Given the description of an element on the screen output the (x, y) to click on. 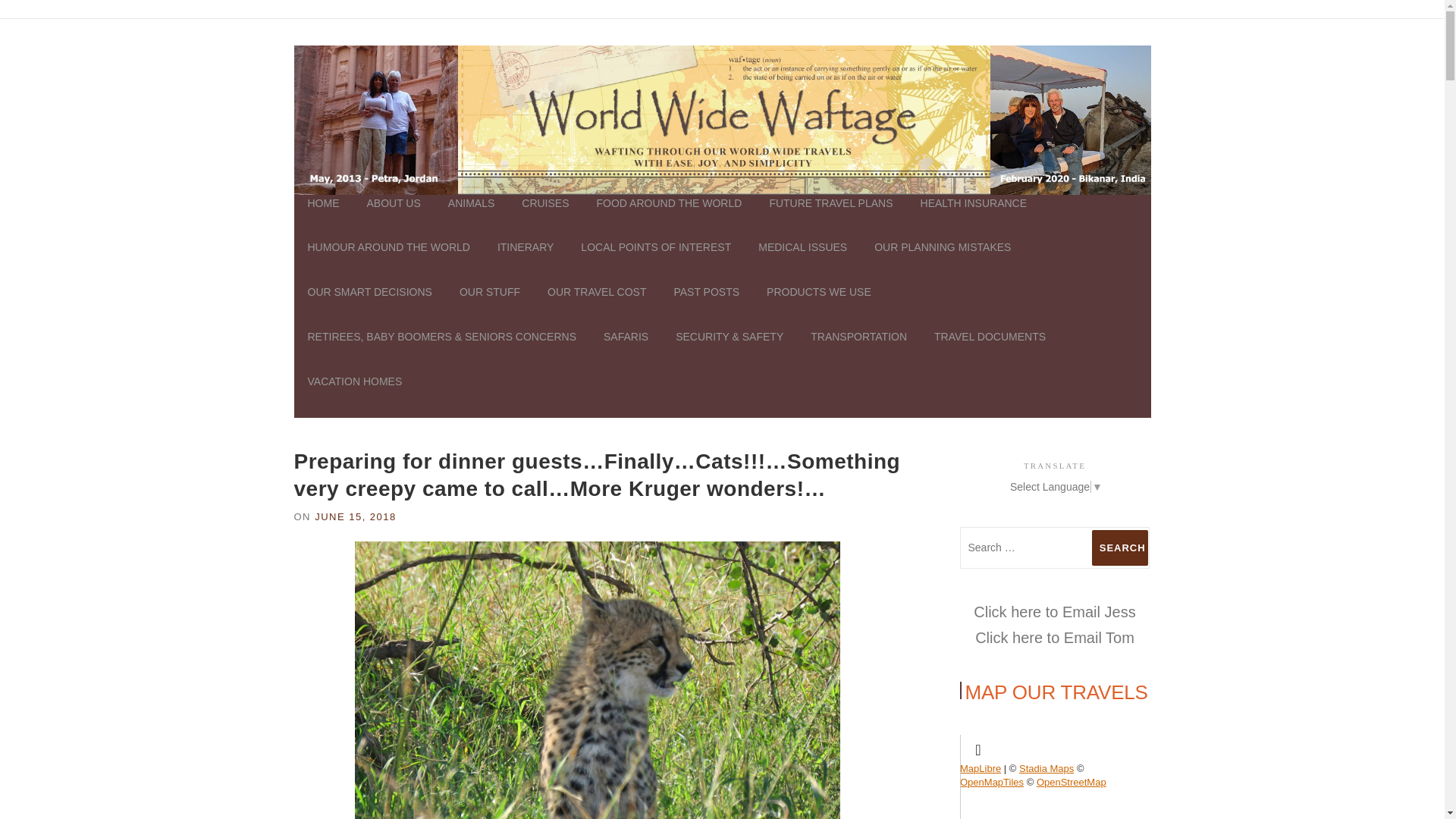
CRUISES (545, 216)
ITINERARY (525, 261)
HOME (323, 216)
PAST POSTS (705, 305)
OUR PLANNING MISTAKES (942, 261)
HEALTH INSURANCE (974, 216)
MEDICAL ISSUES (802, 261)
Search (1120, 547)
VACATION HOMES (348, 395)
Skip to content (34, 27)
Search (1120, 547)
FUTURE TRAVEL PLANS (830, 216)
LOCAL POINTS OF INTEREST (655, 261)
TRANSPORTATION (858, 350)
OUR SMART DECISIONS (369, 305)
